Given the description of an element on the screen output the (x, y) to click on. 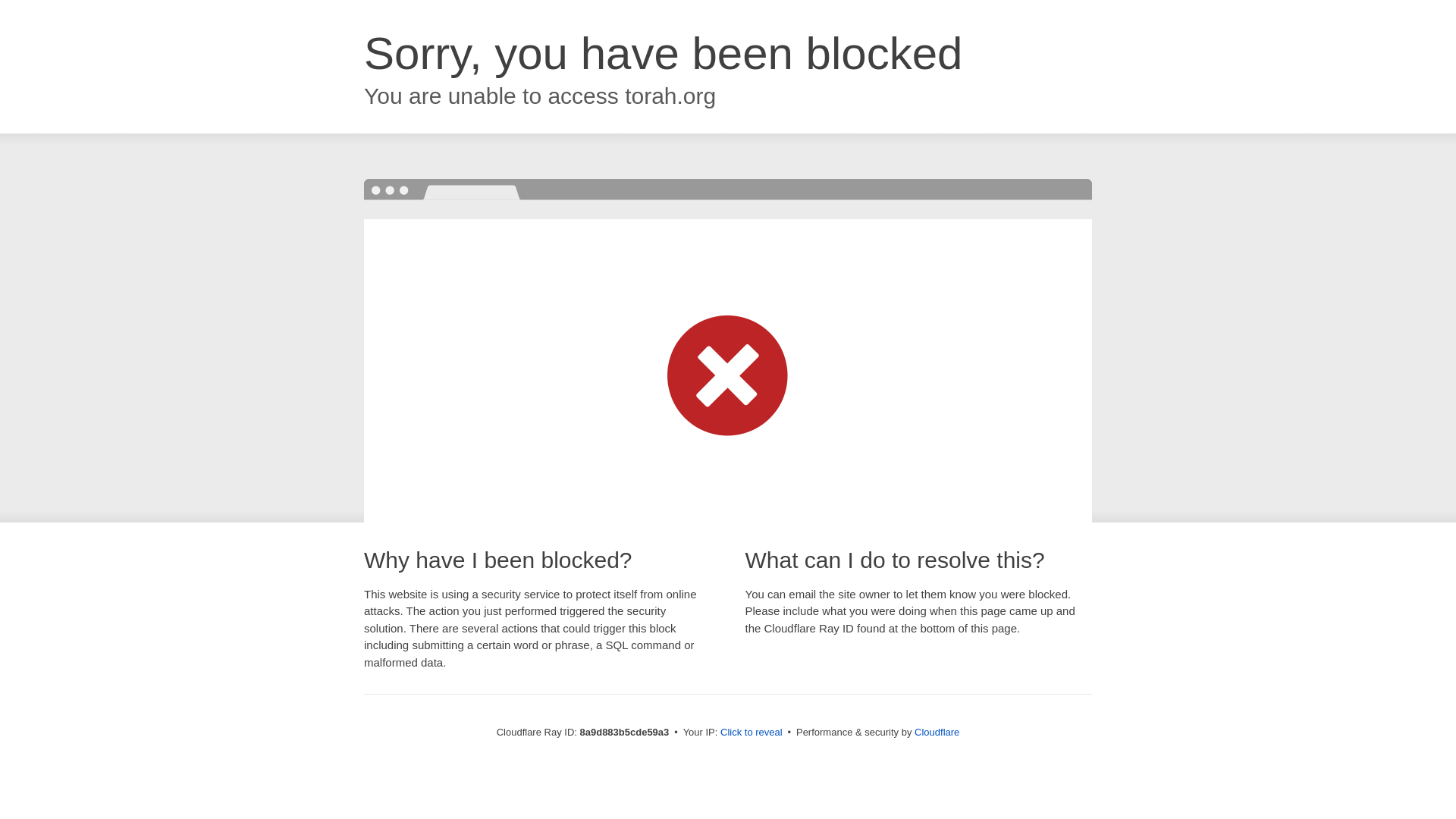
Cloudflare (936, 731)
Click to reveal (751, 732)
